Given the description of an element on the screen output the (x, y) to click on. 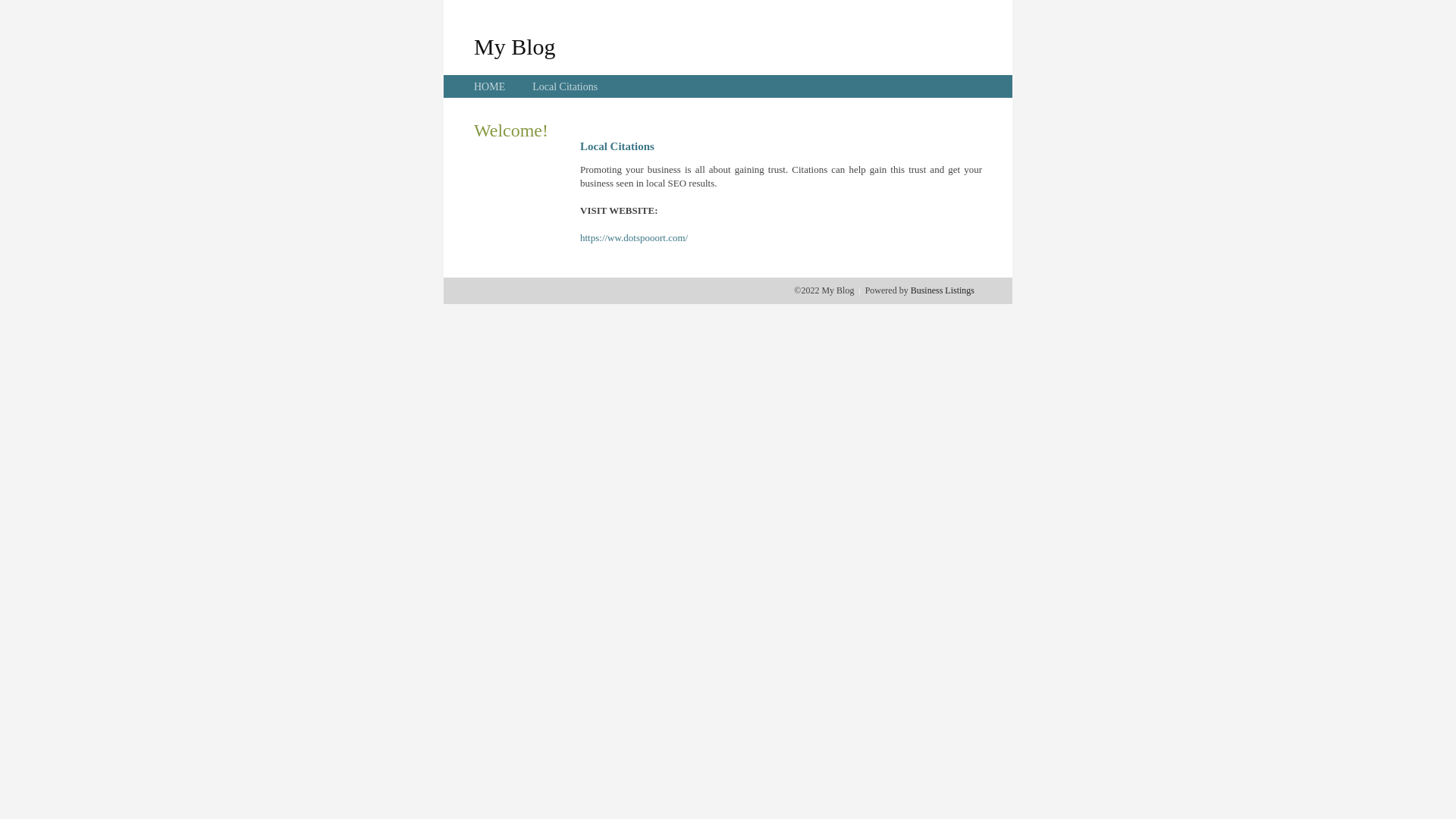
My Blog Element type: text (514, 46)
HOME Element type: text (489, 86)
Business Listings Element type: text (942, 290)
https://ww.dotspooort.com/ Element type: text (633, 237)
Local Citations Element type: text (564, 86)
